Given the description of an element on the screen output the (x, y) to click on. 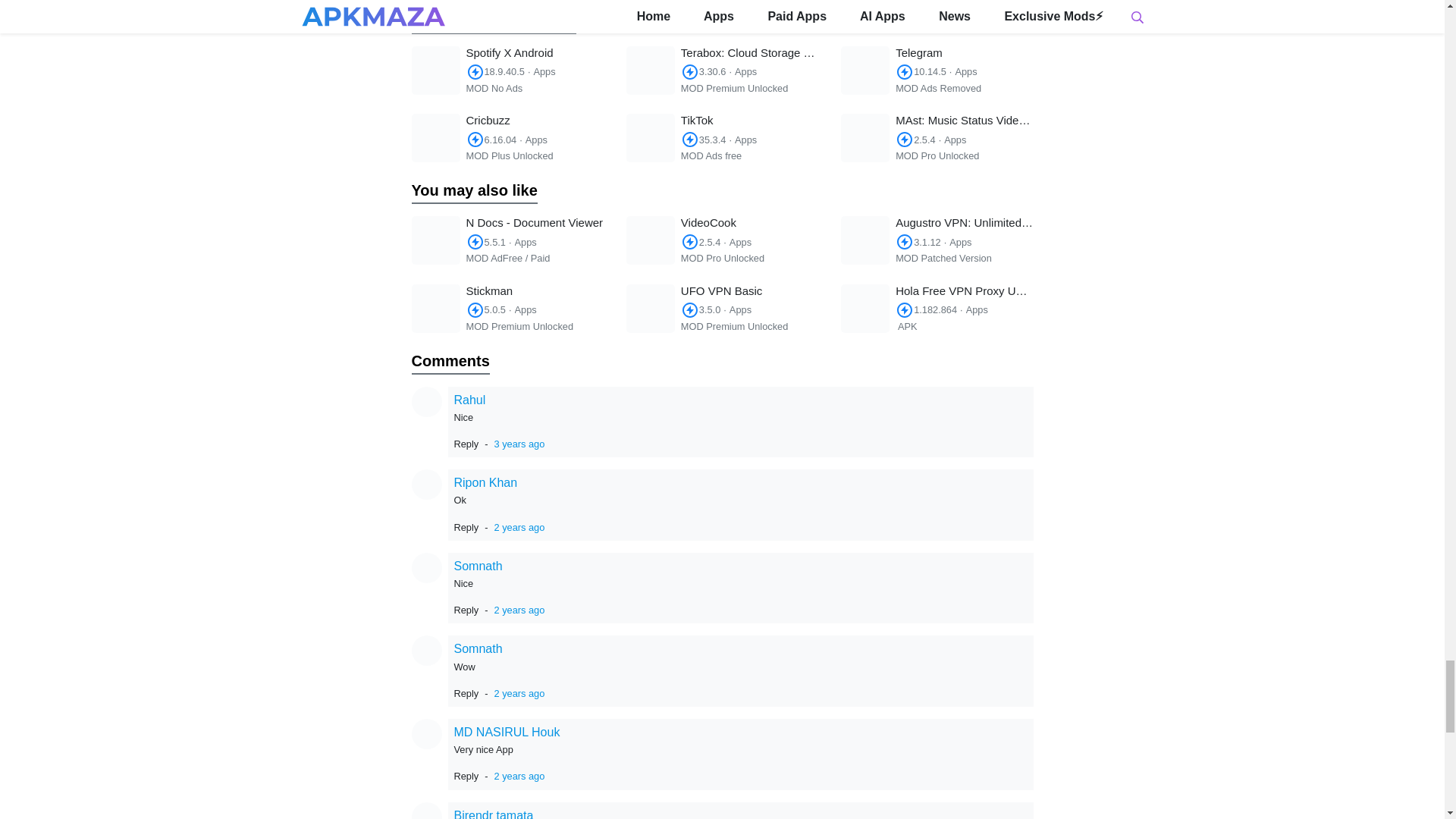
VideoCook (722, 240)
N Docs - Document Viewer (506, 240)
Stickman (506, 307)
 Hola Free VPN Proxy Unblocker (936, 307)
Terabox: Cloud Storage Space (722, 70)
Spotify X Android (506, 70)
Cricbuzz (506, 137)
 Telegram (936, 70)
 UFO VPN Basic (722, 307)
mAst: Music Status Video Maker (936, 137)
